Given the description of an element on the screen output the (x, y) to click on. 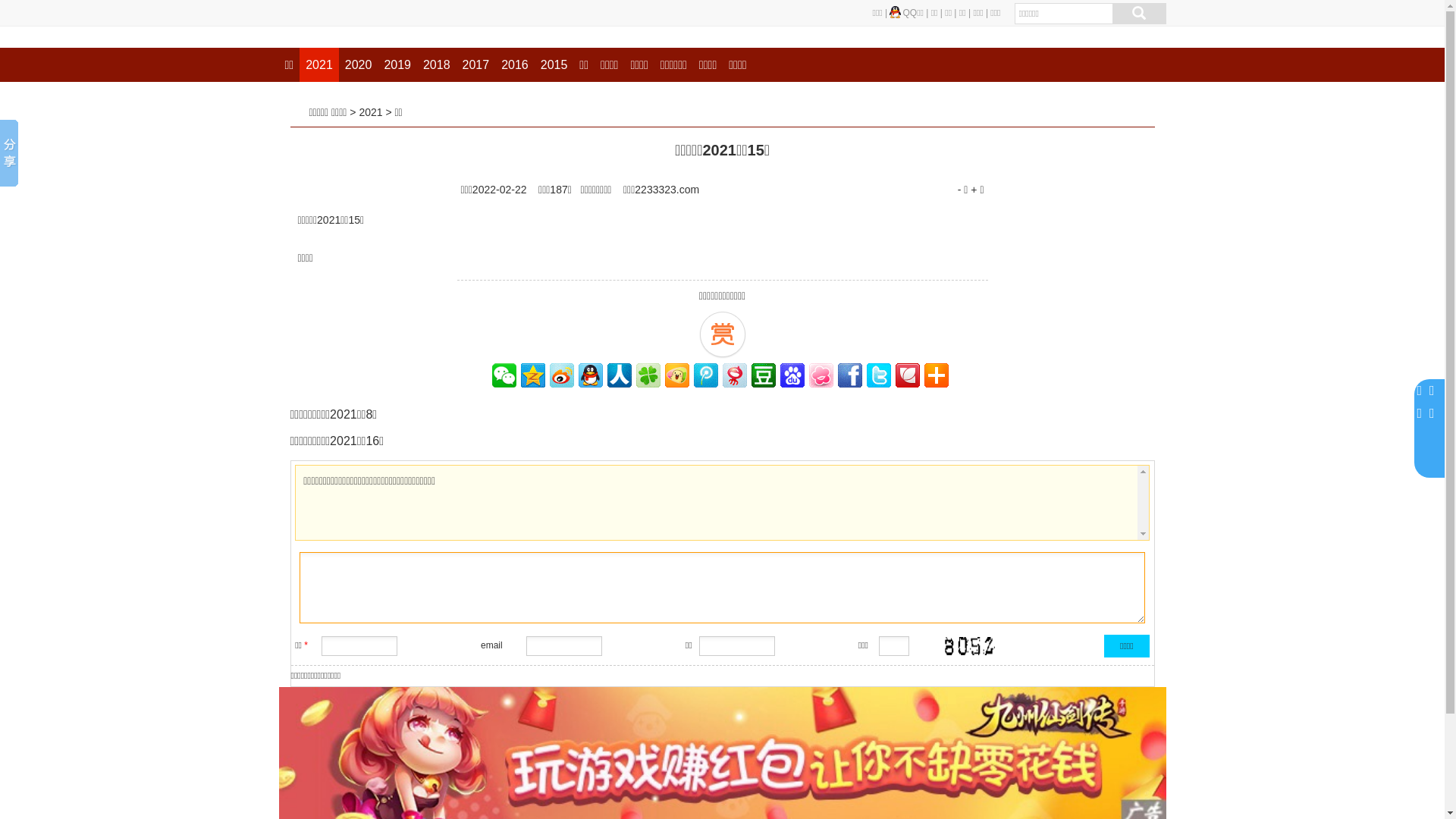
2020 Element type: text (358, 64)
2015 Element type: text (554, 64)
2018 Element type: text (436, 64)
2016 Element type: text (514, 64)
2019 Element type: text (397, 64)
2021 Element type: text (318, 64)
2017 Element type: text (475, 64)
2021 Element type: text (370, 112)
